Given the description of an element on the screen output the (x, y) to click on. 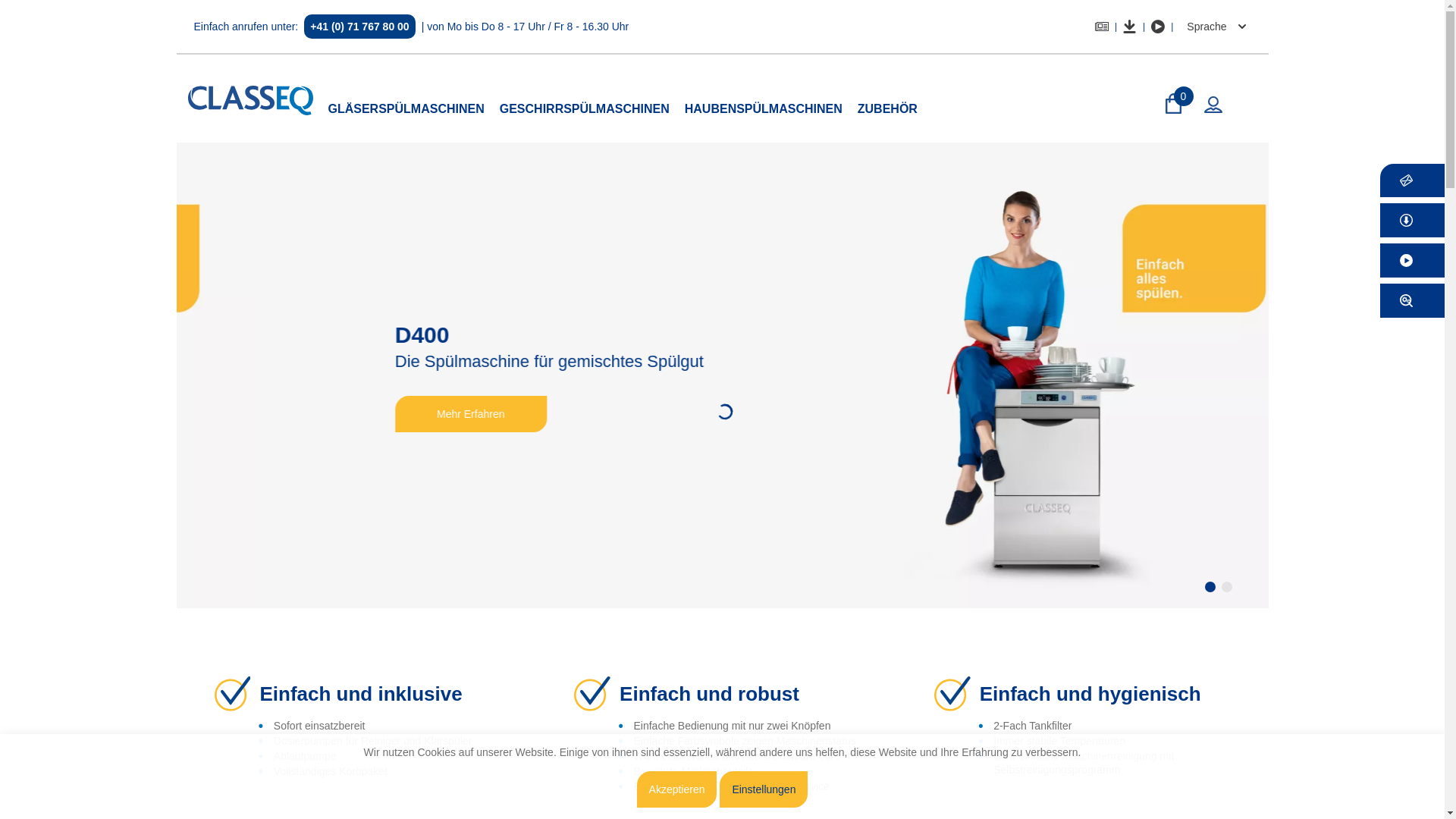
Akzeptieren Element type: text (677, 789)
Mehr Erfahren Element type: text (388, 413)
Einstellungen Element type: text (763, 789)
Sprache Element type: text (1213, 26)
+41 (0) 71 767 80 00 Element type: text (359, 26)
Mehr Erfahren Element type: text (388, 413)
CLASSEQ DE Slider 300 DPI RECHTS D500 Element type: hover (721, 375)
0 Element type: text (1173, 104)
